Given the description of an element on the screen output the (x, y) to click on. 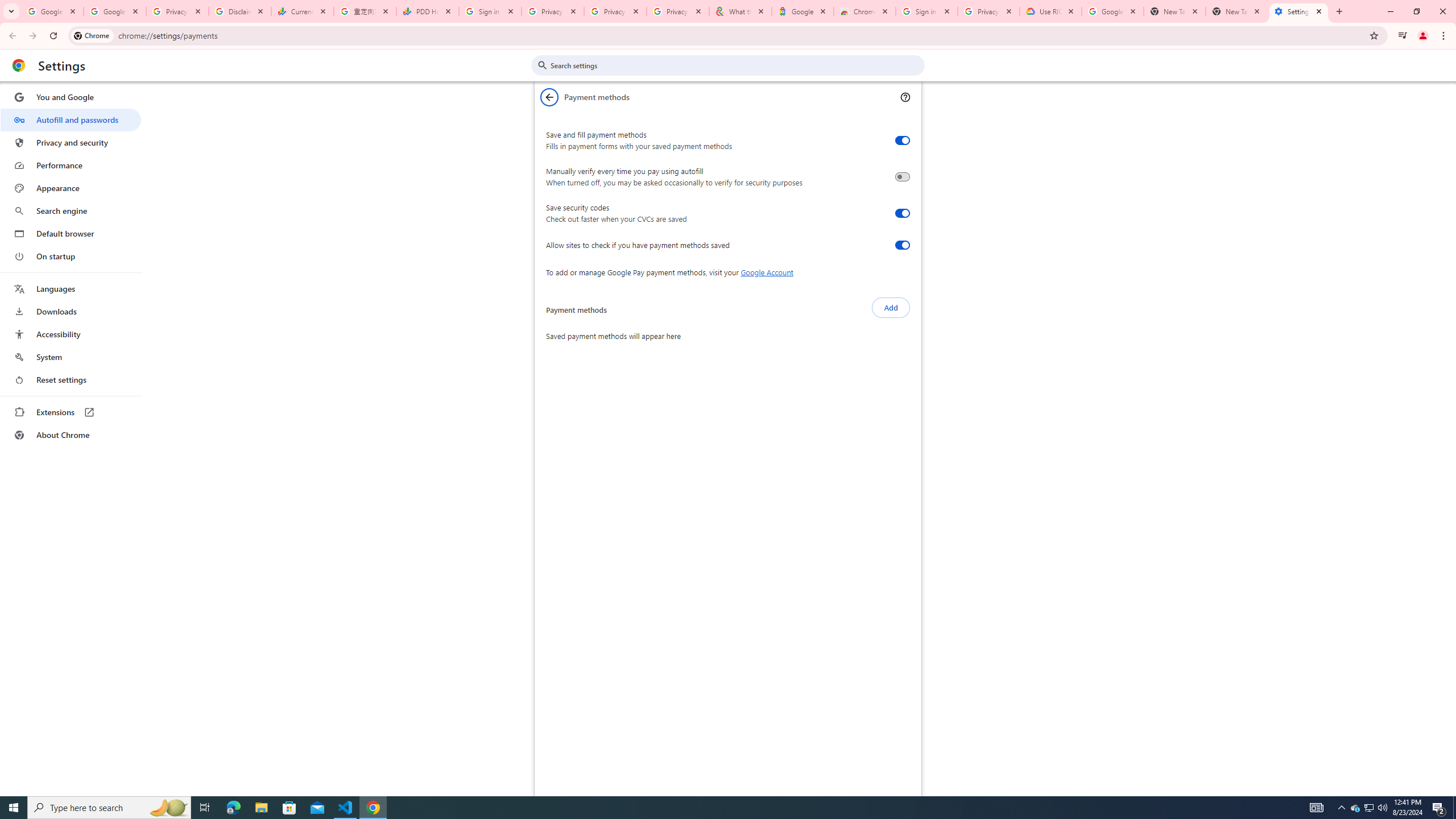
Appearance (70, 187)
About Chrome (70, 434)
Privacy Checkup (678, 11)
Google Workspace Admin Community (52, 11)
Reset settings (70, 379)
Search settings (735, 65)
Languages (70, 288)
